Given the description of an element on the screen output the (x, y) to click on. 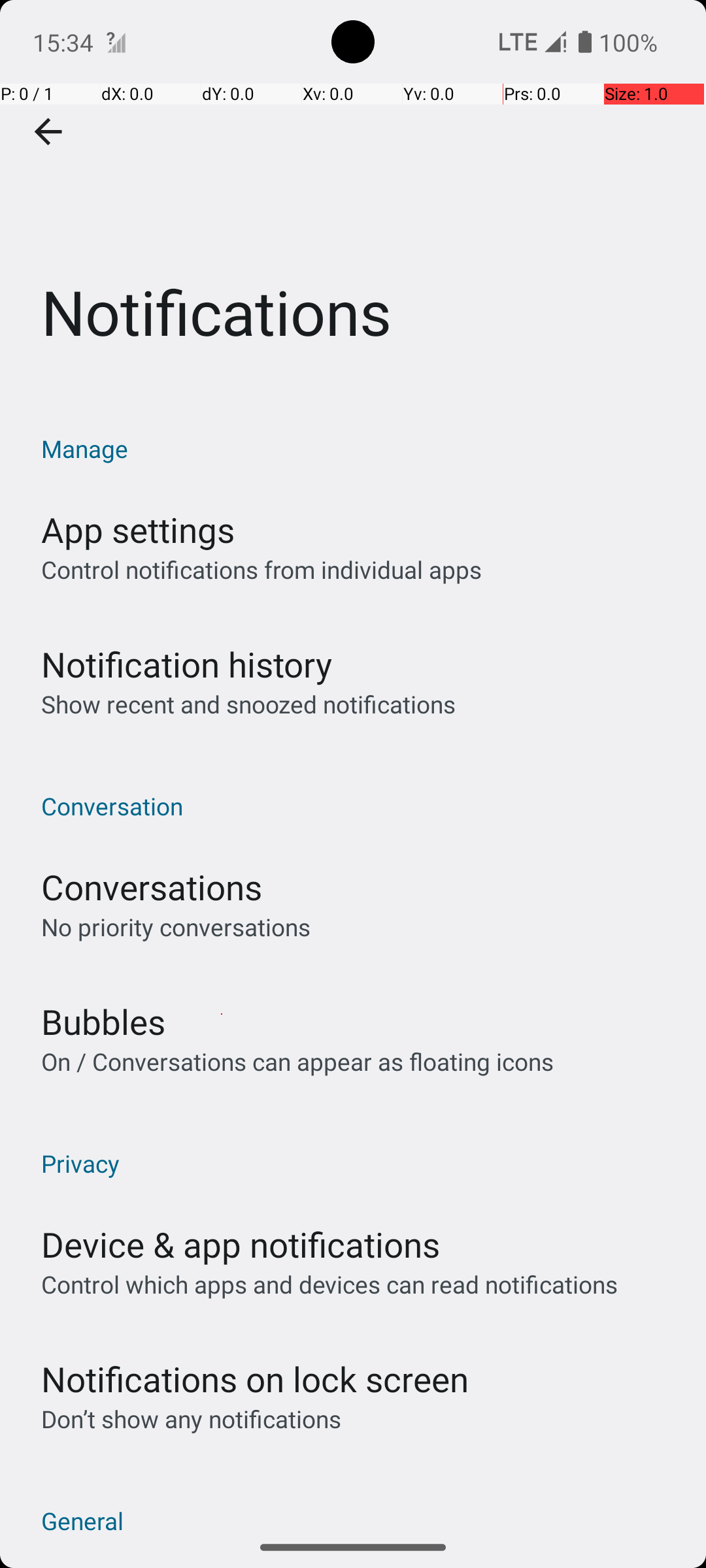
Don’t show any notifications Element type: android.widget.TextView (191, 1418)
